Given the description of an element on the screen output the (x, y) to click on. 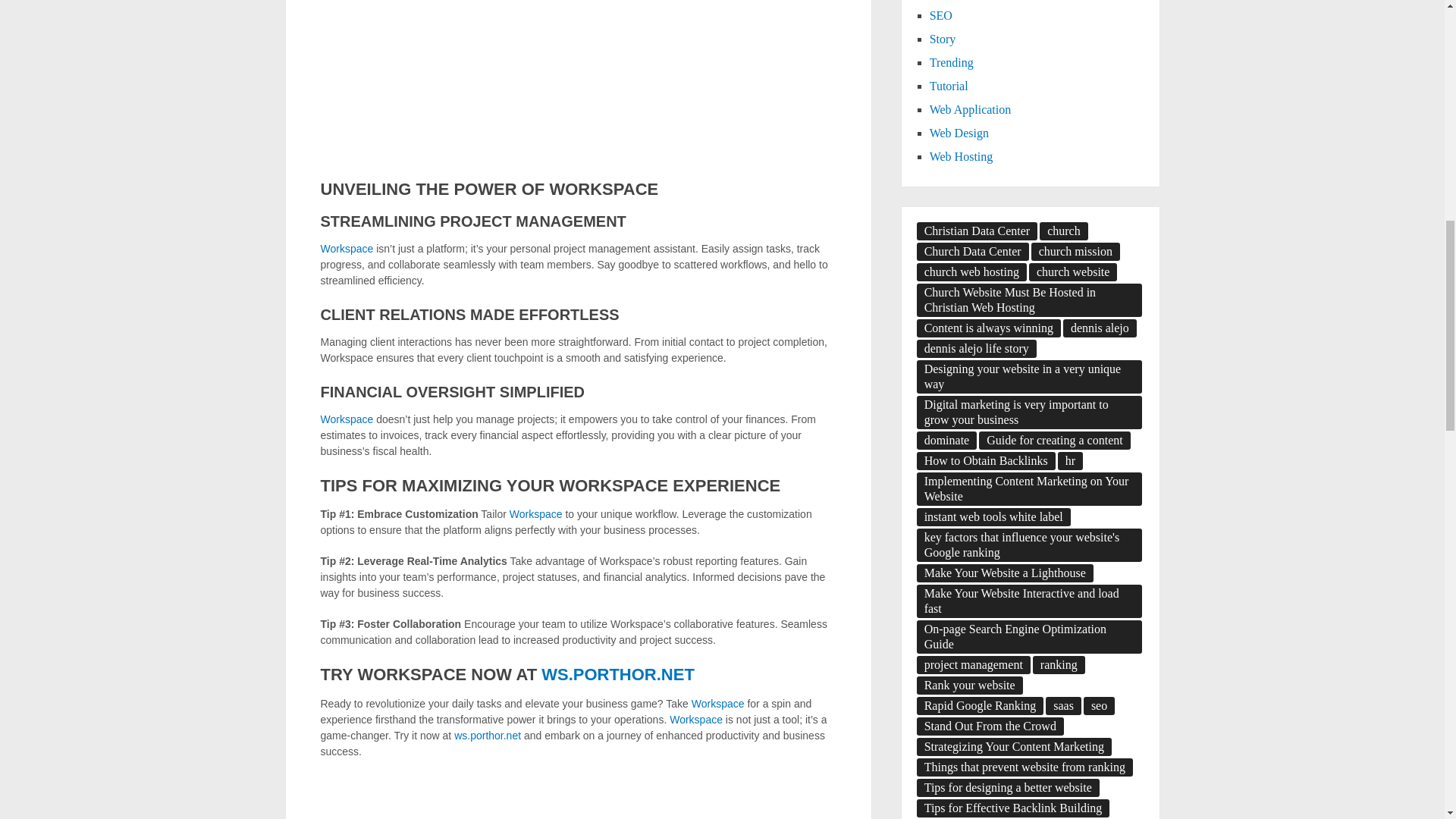
WS.PORTHOR.NET (617, 674)
Workspace (695, 719)
Workspace (717, 703)
Workspace (346, 419)
ws.porthor.net (487, 735)
Workspace (535, 513)
Workspace (346, 248)
